Given the description of an element on the screen output the (x, y) to click on. 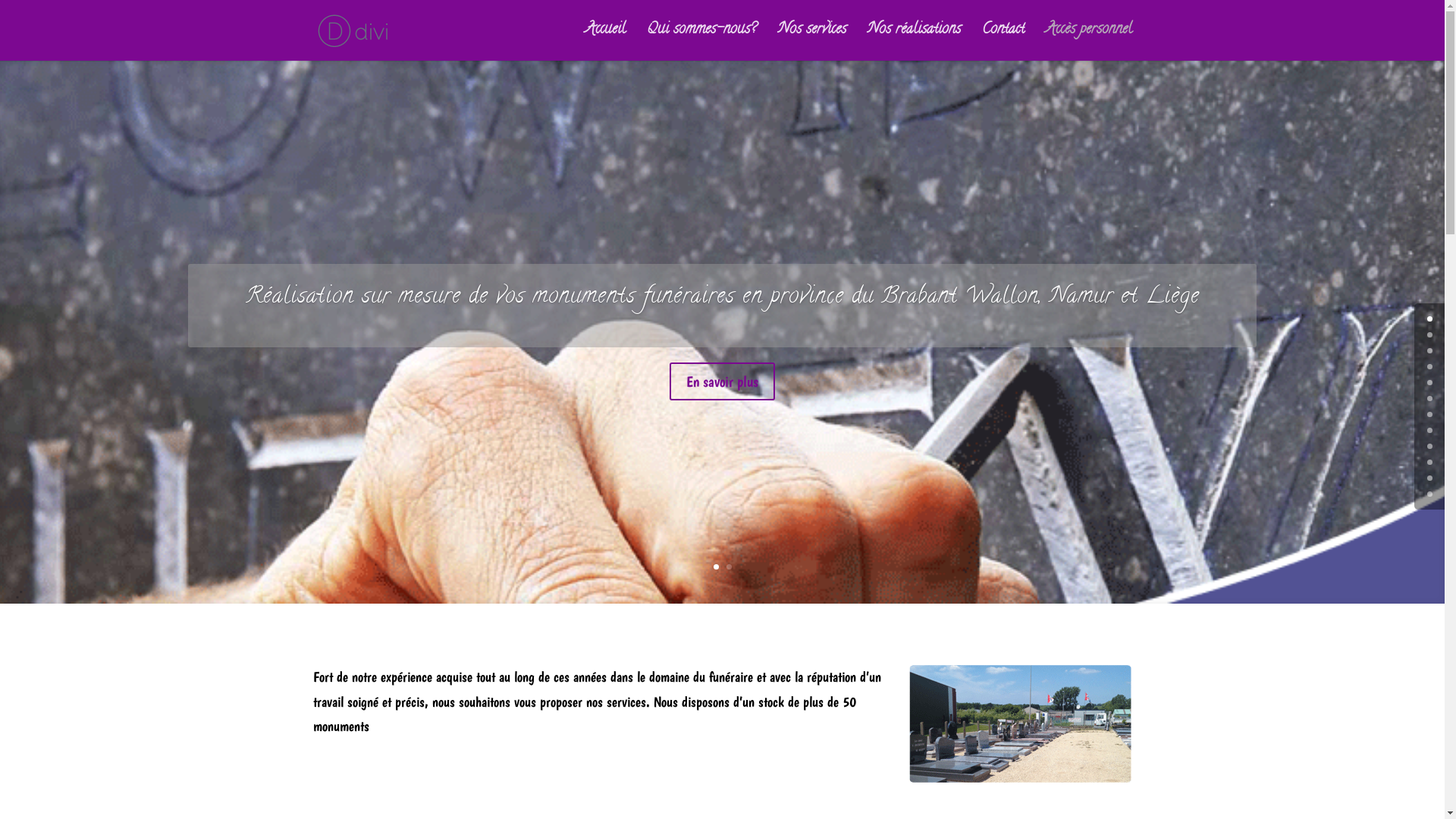
11 Element type: text (1429, 493)
1 Element type: text (715, 566)
6 Element type: text (1429, 414)
9 Element type: text (1429, 461)
8 Element type: text (1429, 445)
4 Element type: text (1429, 382)
7 Element type: text (1429, 430)
0 Element type: text (1429, 318)
1 Element type: text (1429, 334)
10 Element type: text (1429, 477)
Accueil Element type: text (605, 42)
3 Element type: text (1429, 366)
5 Element type: text (1429, 398)
Nos services Element type: text (812, 42)
2 Element type: text (728, 566)
Contact Element type: text (1002, 42)
Qui sommes-nous? Element type: text (701, 42)
2 Element type: text (1429, 350)
En savoir plus Element type: text (722, 381)
